Given the description of an element on the screen output the (x, y) to click on. 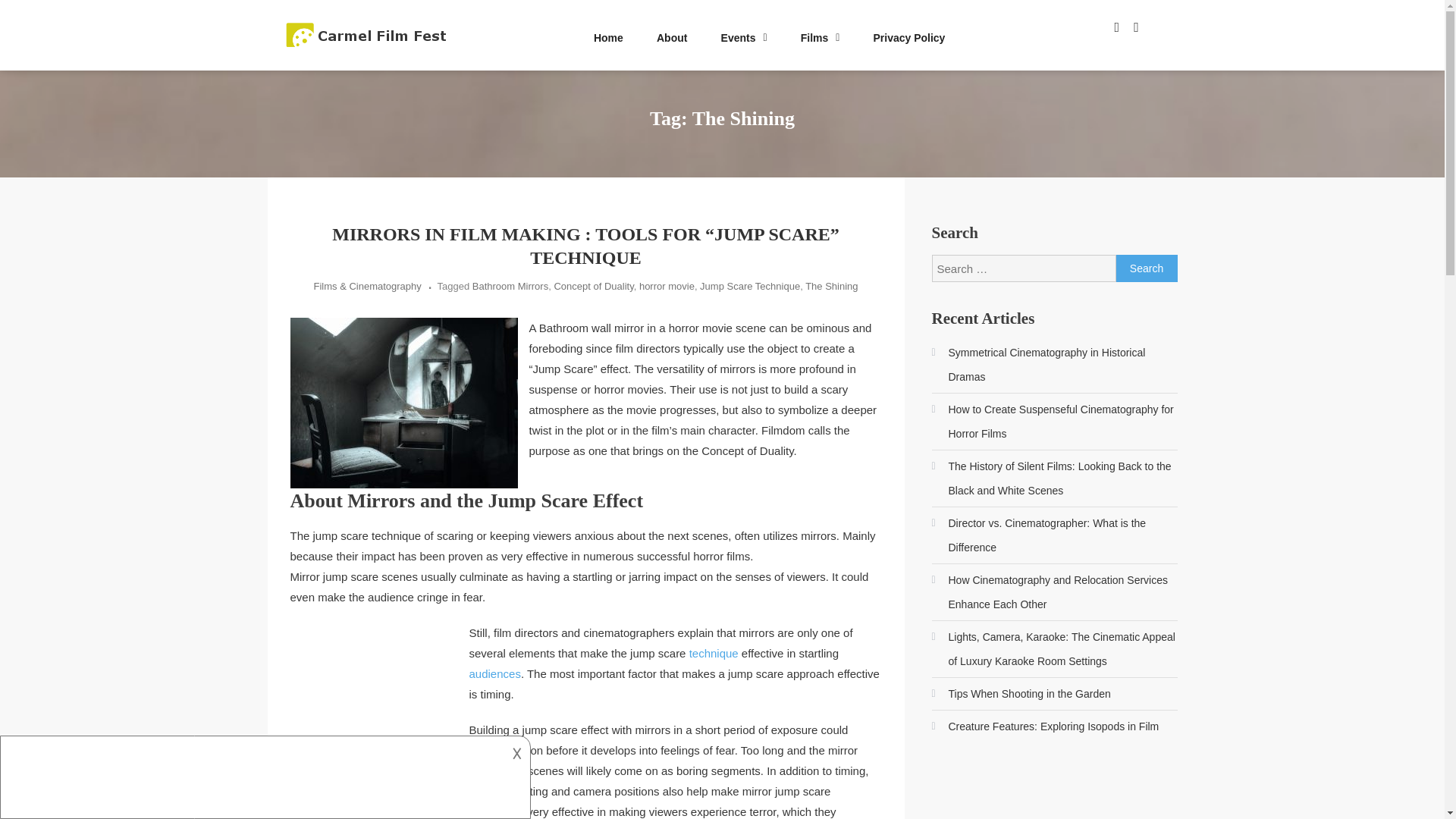
Director vs. Cinematographer: What is the Difference (1053, 535)
horror movie (666, 285)
Symmetrical Cinematography in Historical Dramas (1053, 364)
Search (1146, 267)
Privacy Policy (908, 37)
Concept of Duality (593, 285)
How to Create Suspenseful Cinematography for Horror Films (1053, 421)
Creature Features: Exploring Isopods in Film (1044, 726)
Jump Scare Technique (749, 285)
